Given the description of an element on the screen output the (x, y) to click on. 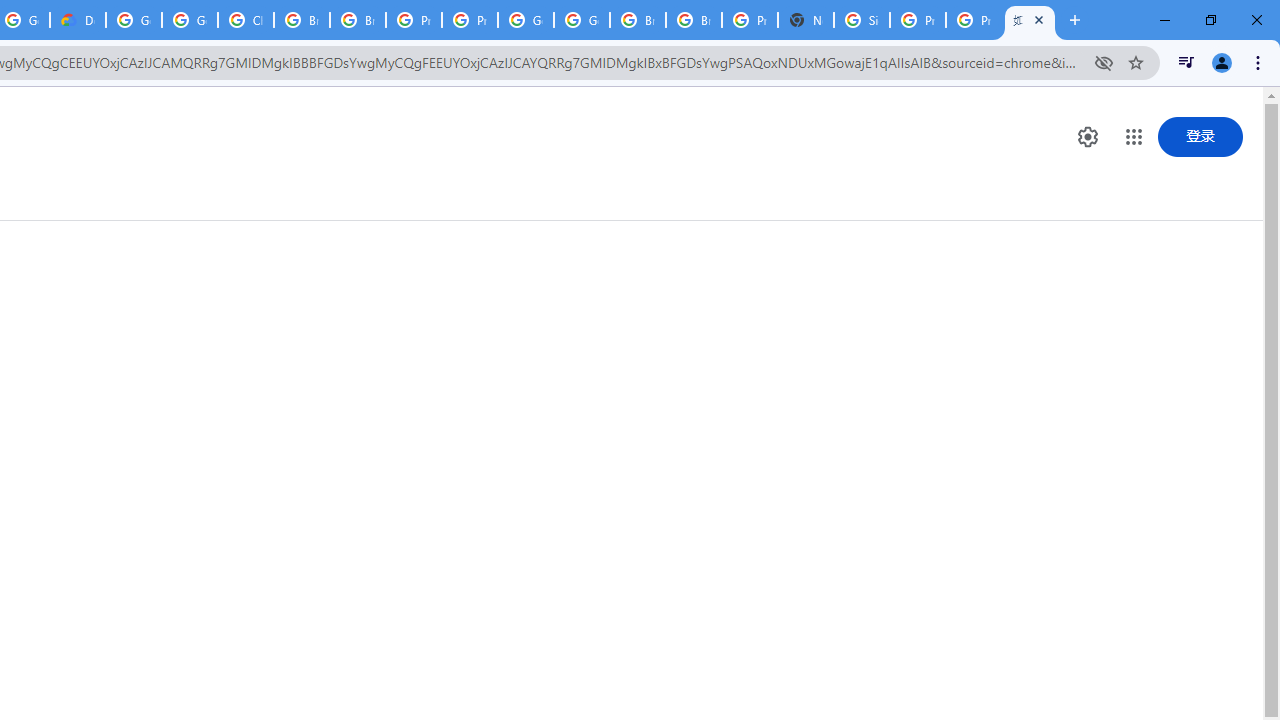
Sign in - Google Accounts (861, 20)
Google Cloud Platform (582, 20)
New Tab (806, 20)
